Given the description of an element on the screen output the (x, y) to click on. 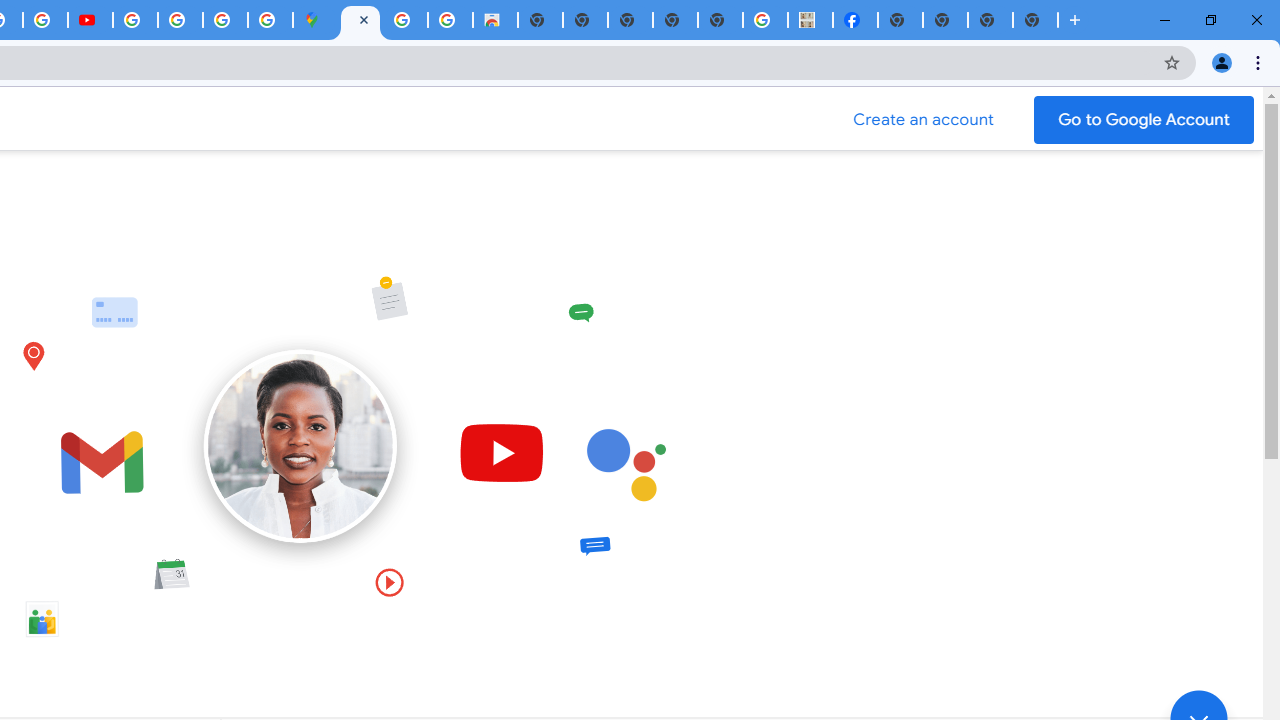
Subscriptions - YouTube (89, 20)
Go to your Google Account (1144, 119)
How Chrome protects your passwords - Google Chrome Help (134, 20)
Chrome Web Store - Shopping (495, 20)
